Given the description of an element on the screen output the (x, y) to click on. 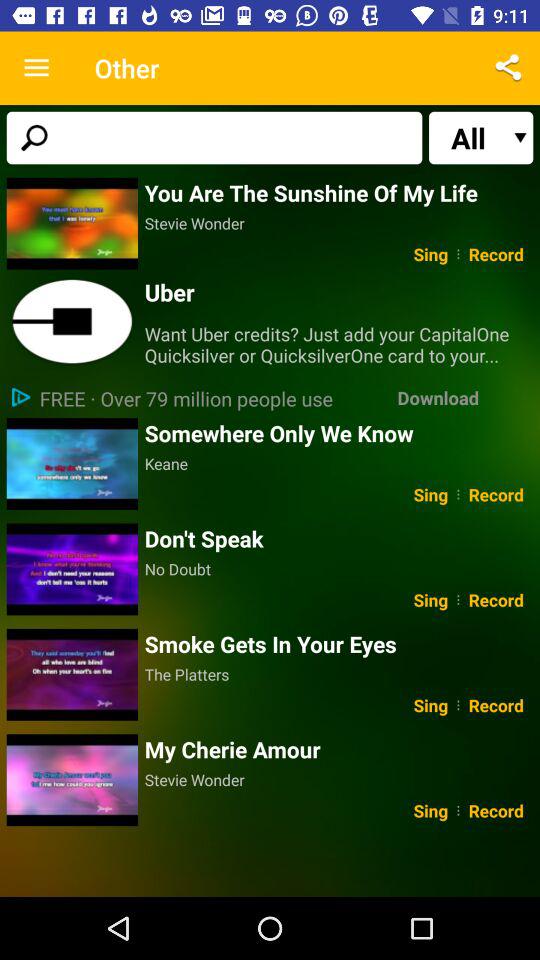
turn on the icon below the sing item (338, 538)
